Given the description of an element on the screen output the (x, y) to click on. 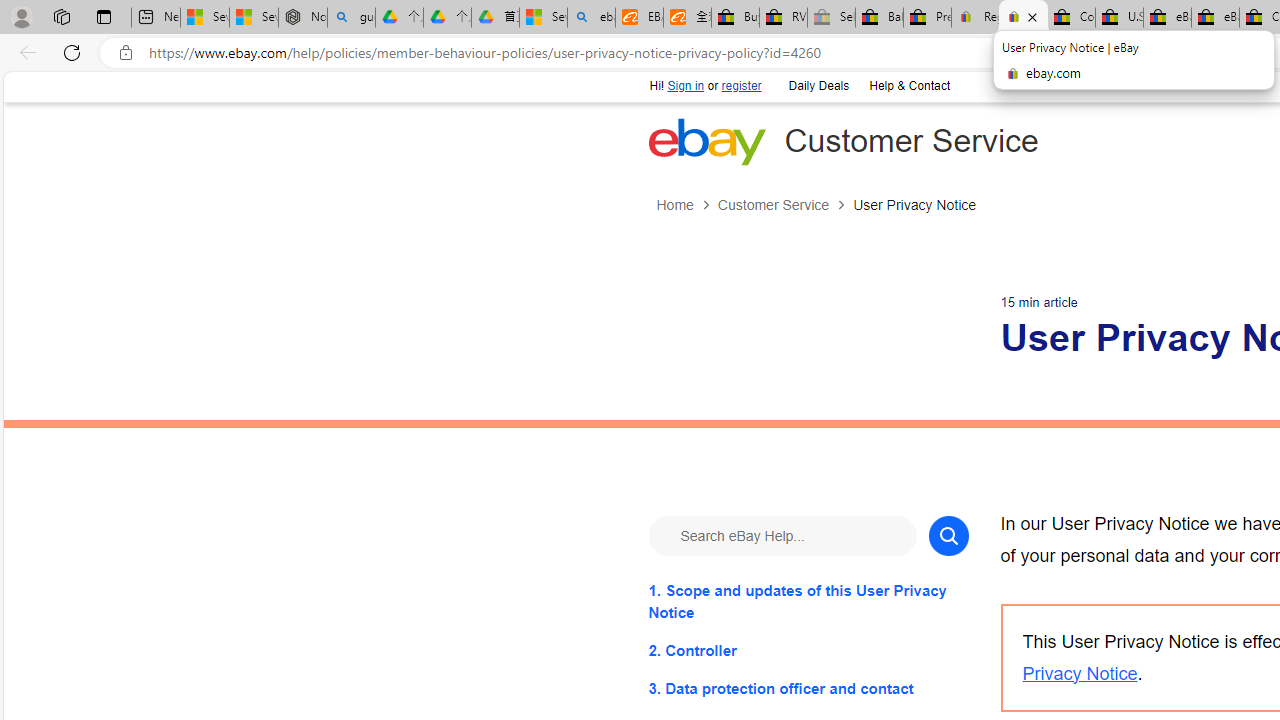
Press Room - eBay Inc. (927, 17)
Help & Contact (909, 86)
eBay Home (706, 141)
Daily Deals (817, 84)
2. Controller (807, 650)
Customer Service (784, 205)
U.S. State Privacy Disclosures - eBay Inc. (1119, 17)
Customer Service (772, 205)
Search eBay Help... (781, 534)
Help & Contact (907, 84)
